Given the description of an element on the screen output the (x, y) to click on. 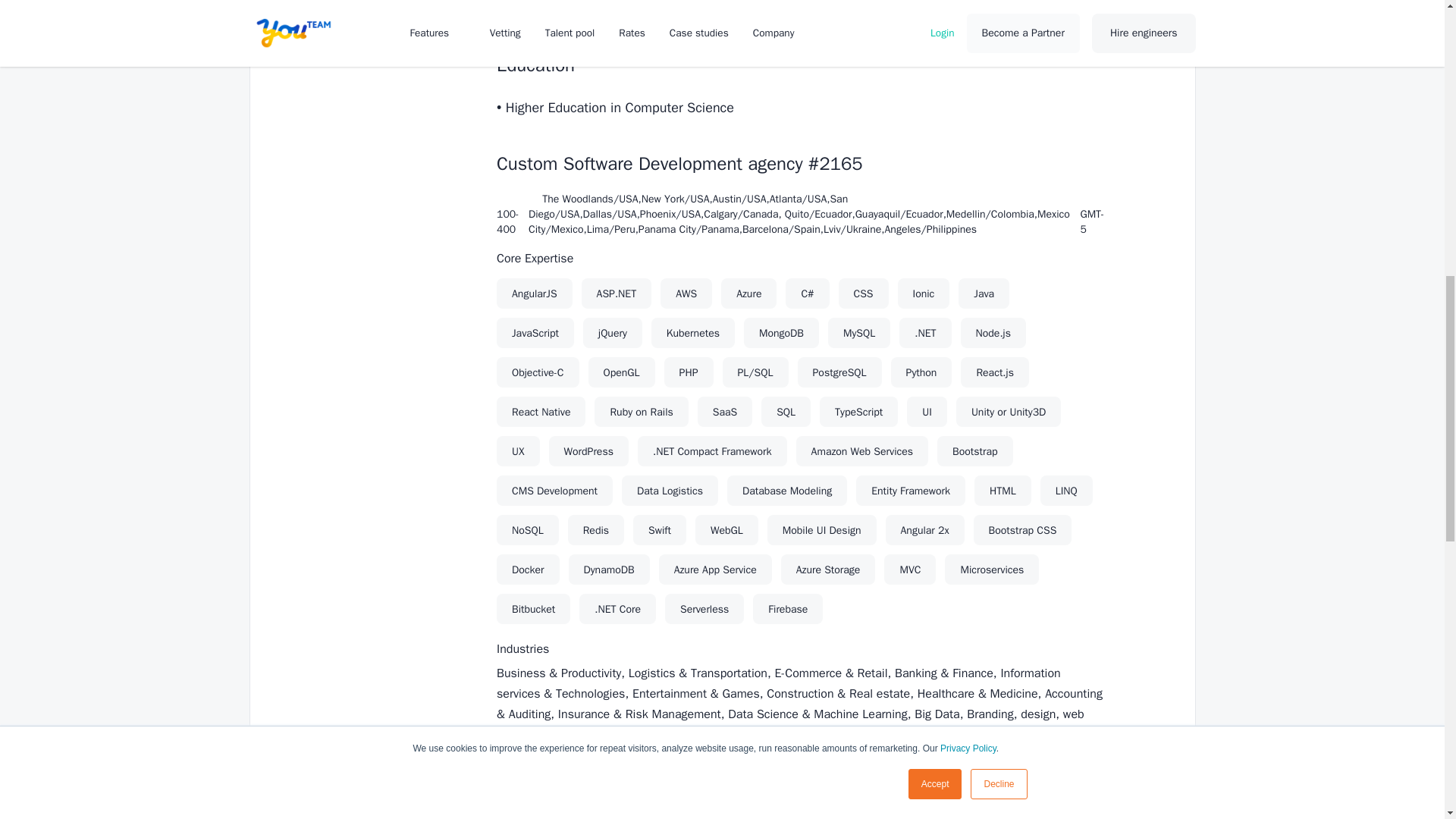
Check if Salvador is available (993, 2)
Person User (501, 199)
Check if Salvador is available (993, 806)
Location Map Pin (533, 199)
Main Clock (1085, 199)
